Given the description of an element on the screen output the (x, y) to click on. 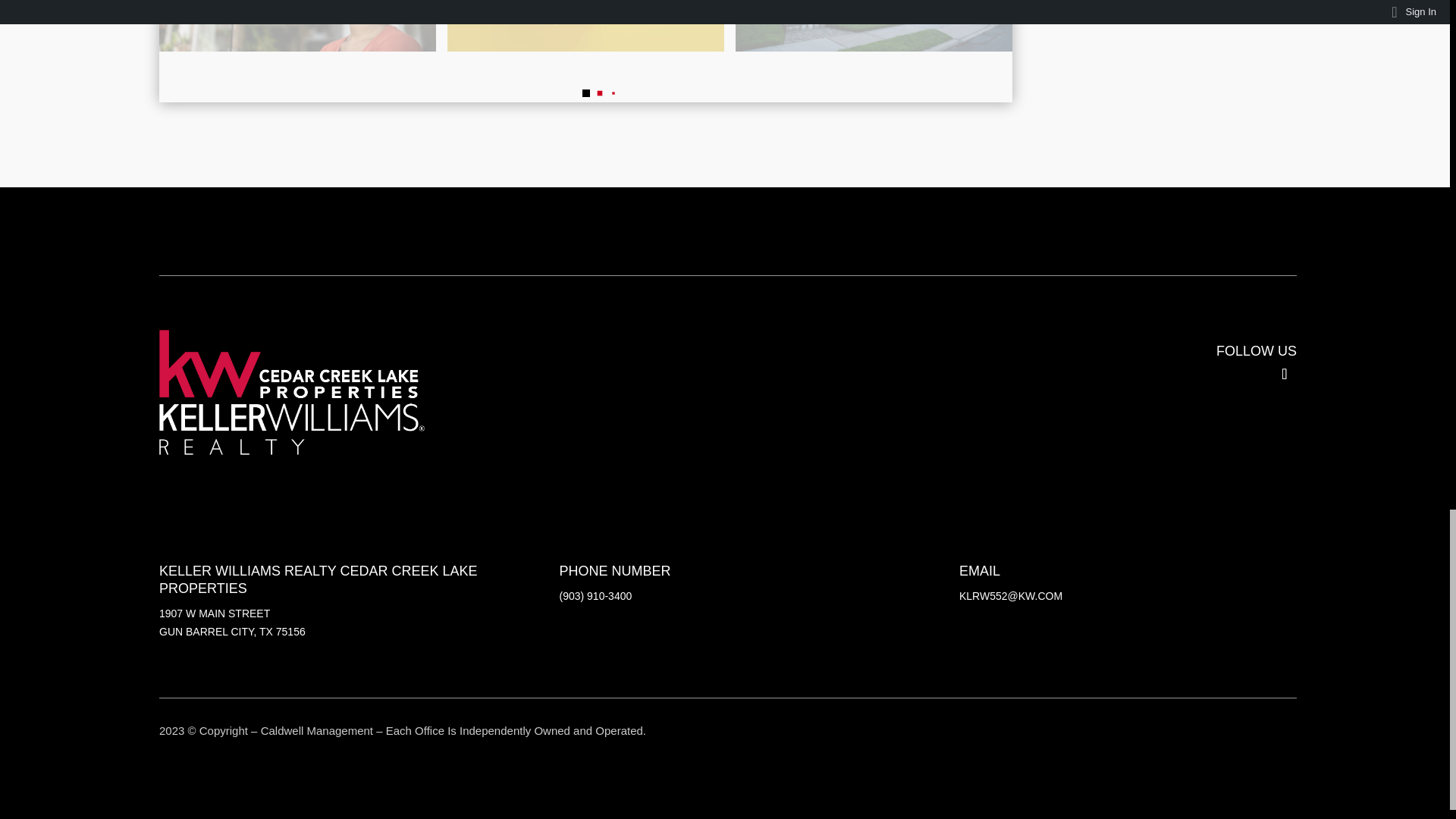
Cedar-Creek-Lake-Properties-Logo-light (291, 395)
Follow on Facebook (1284, 373)
